Given the description of an element on the screen output the (x, y) to click on. 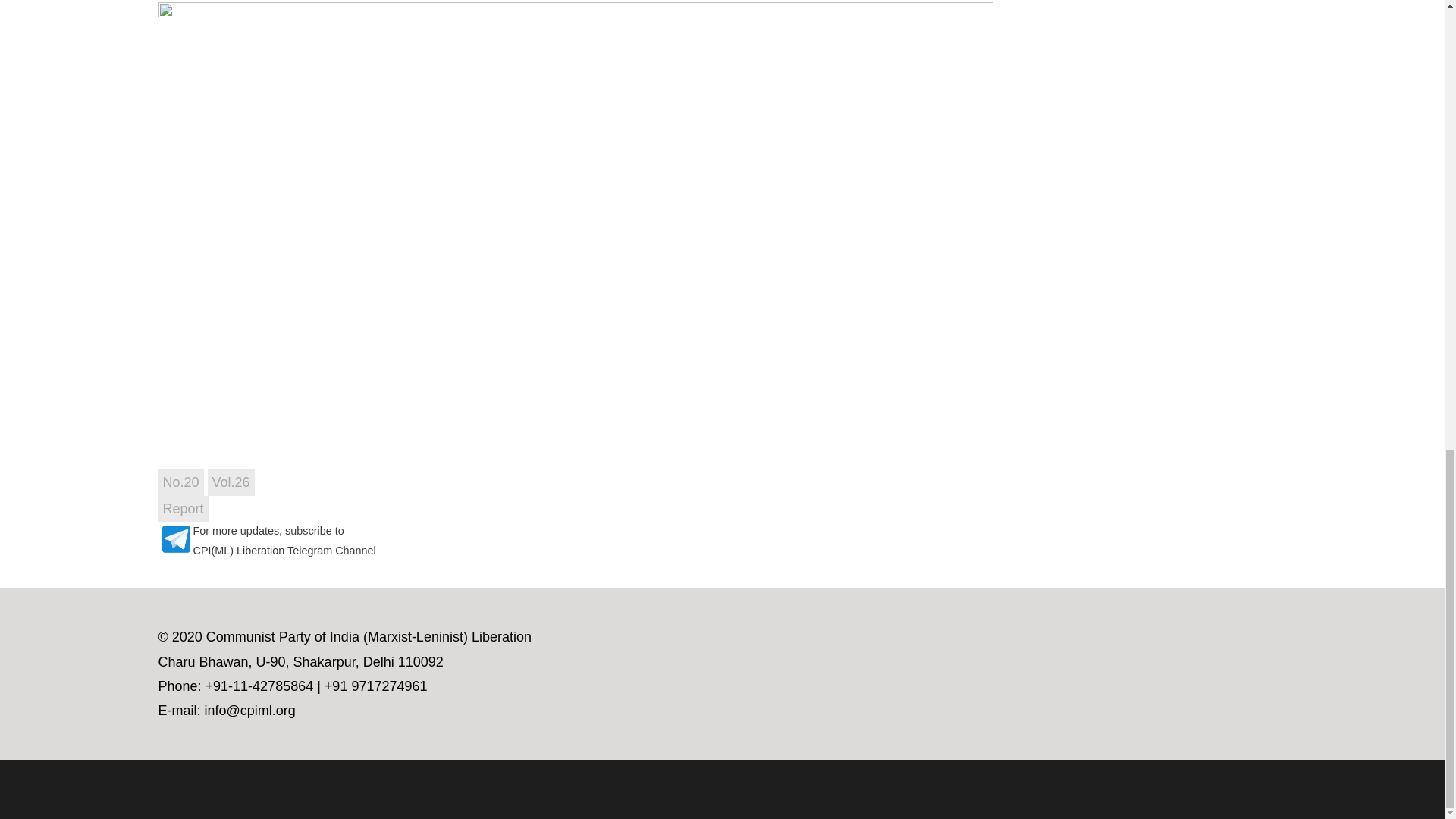
Vol.26 (231, 482)
Report (182, 508)
No.20 (180, 482)
Report (182, 508)
